Given the description of an element on the screen output the (x, y) to click on. 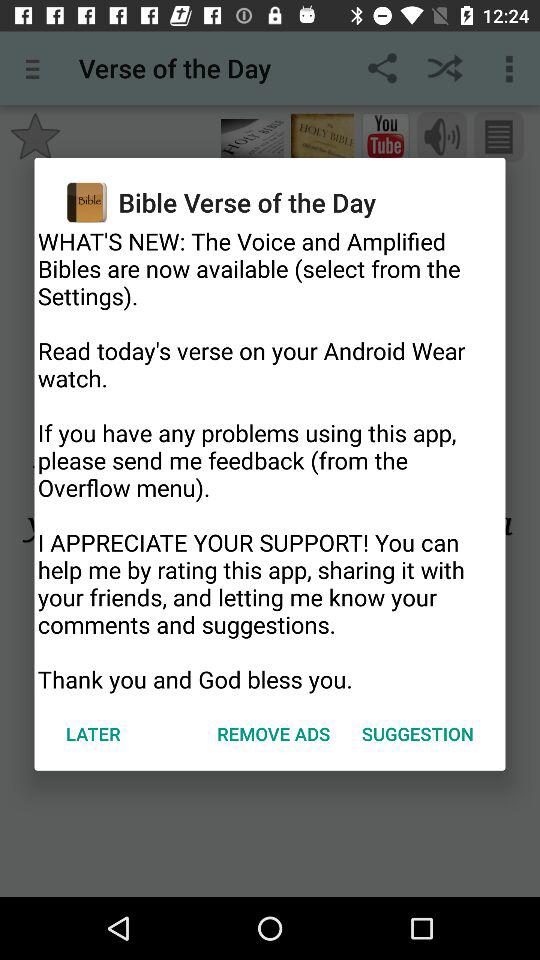
launch the item below the what s new icon (273, 733)
